Given the description of an element on the screen output the (x, y) to click on. 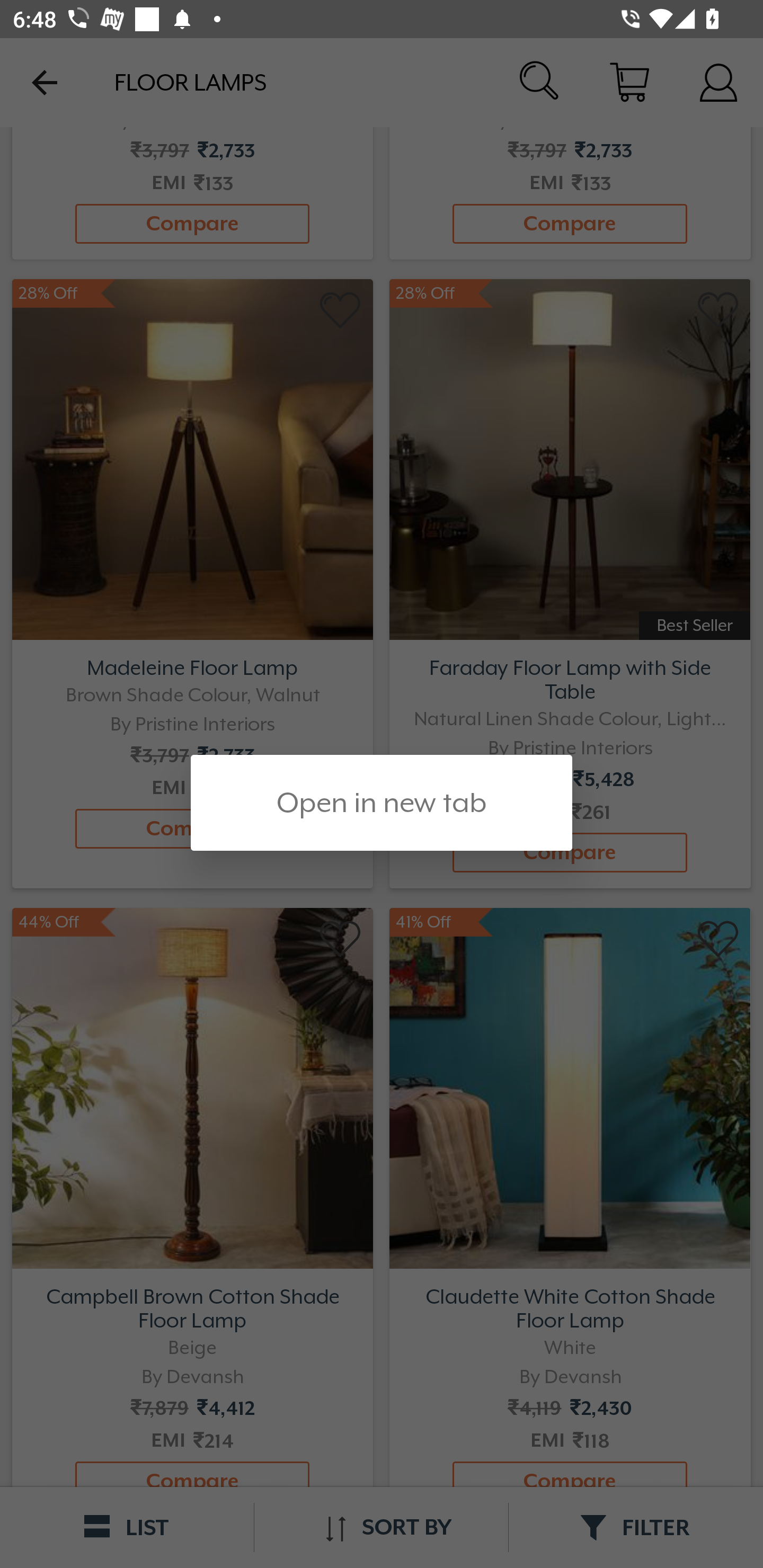
Open in new tab (381, 802)
